Given the description of an element on the screen output the (x, y) to click on. 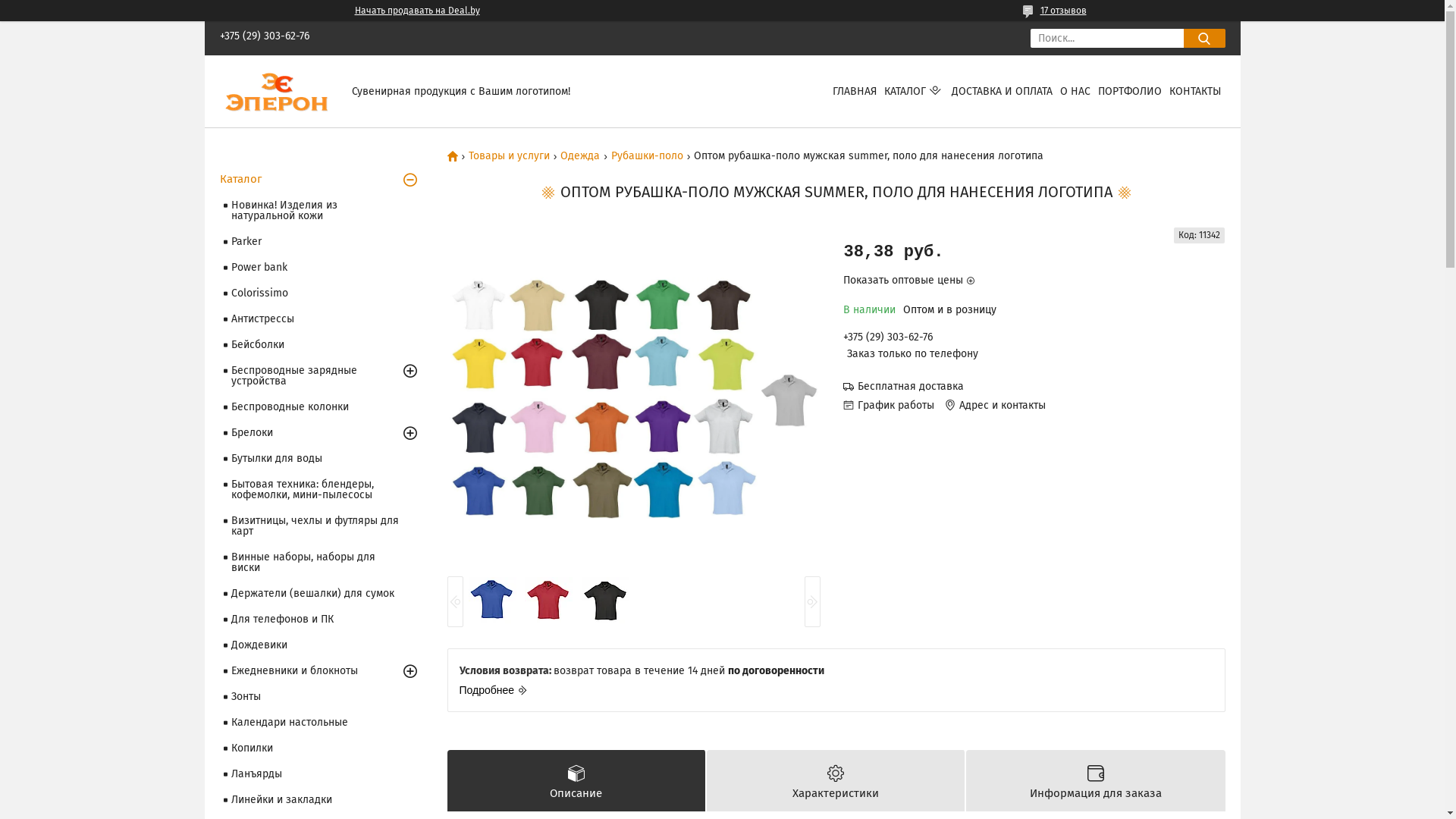
Parker Element type: text (321, 241)
Colorissimo Element type: text (321, 293)
Power bank Element type: text (321, 267)
